Given the description of an element on the screen output the (x, y) to click on. 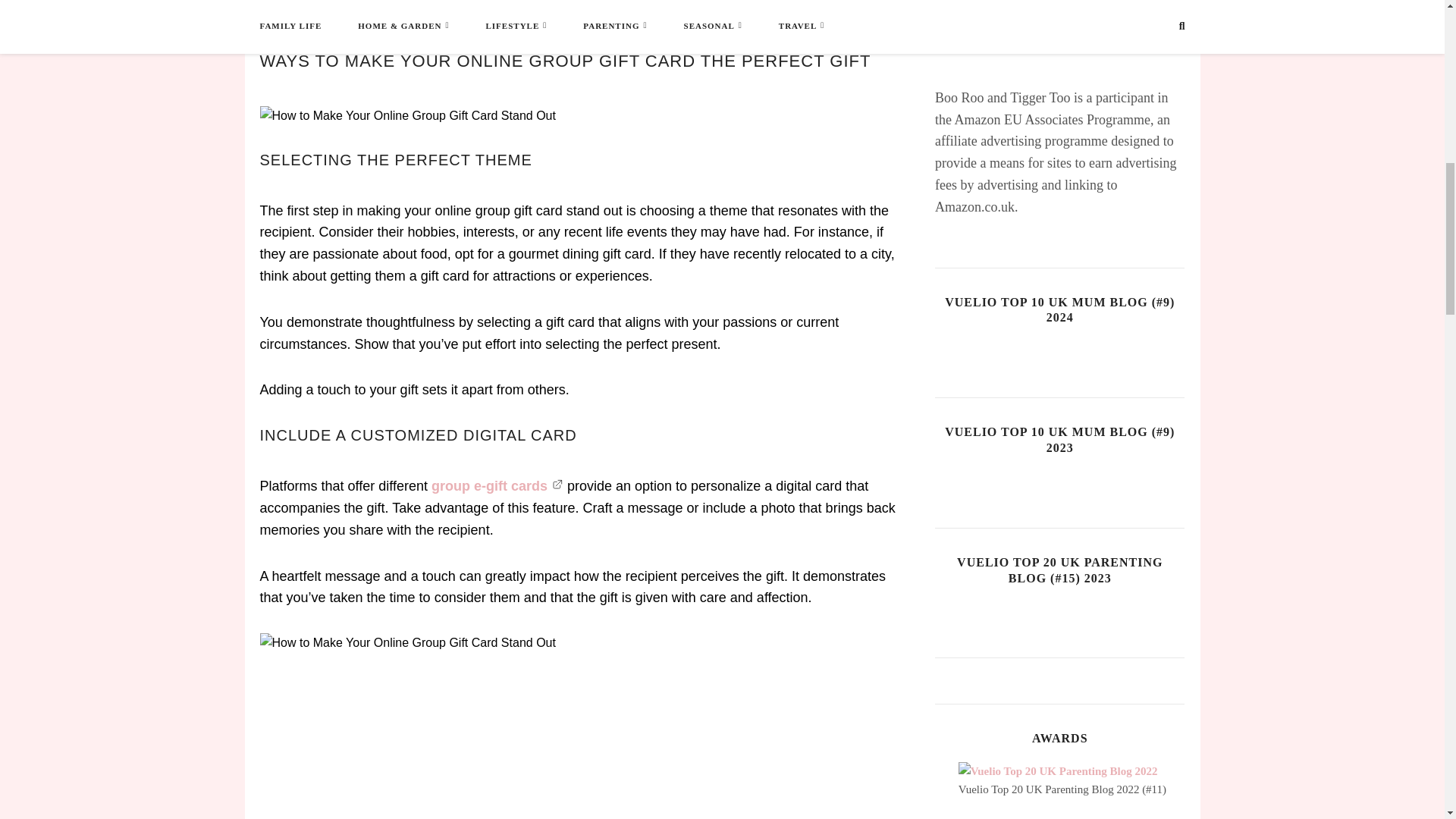
Vuelio Top 20 UK Parenting Blog 2022 (1057, 771)
Organize a Collective Thank You Message (405, 3)
